Given the description of an element on the screen output the (x, y) to click on. 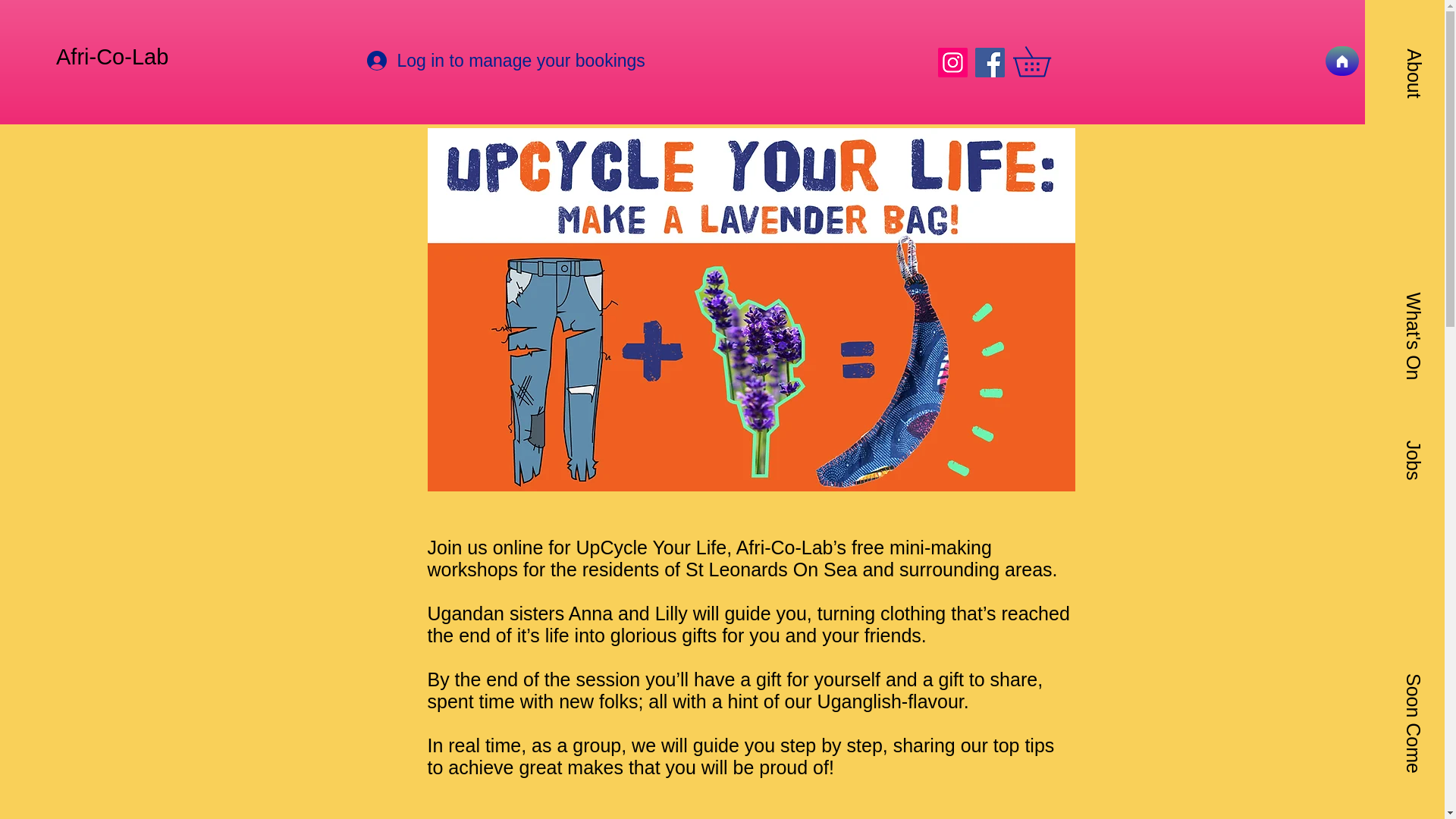
Afri-Co-Lab (115, 56)
Jobs (1419, 450)
Log in to manage your bookings (443, 60)
